Given the description of an element on the screen output the (x, y) to click on. 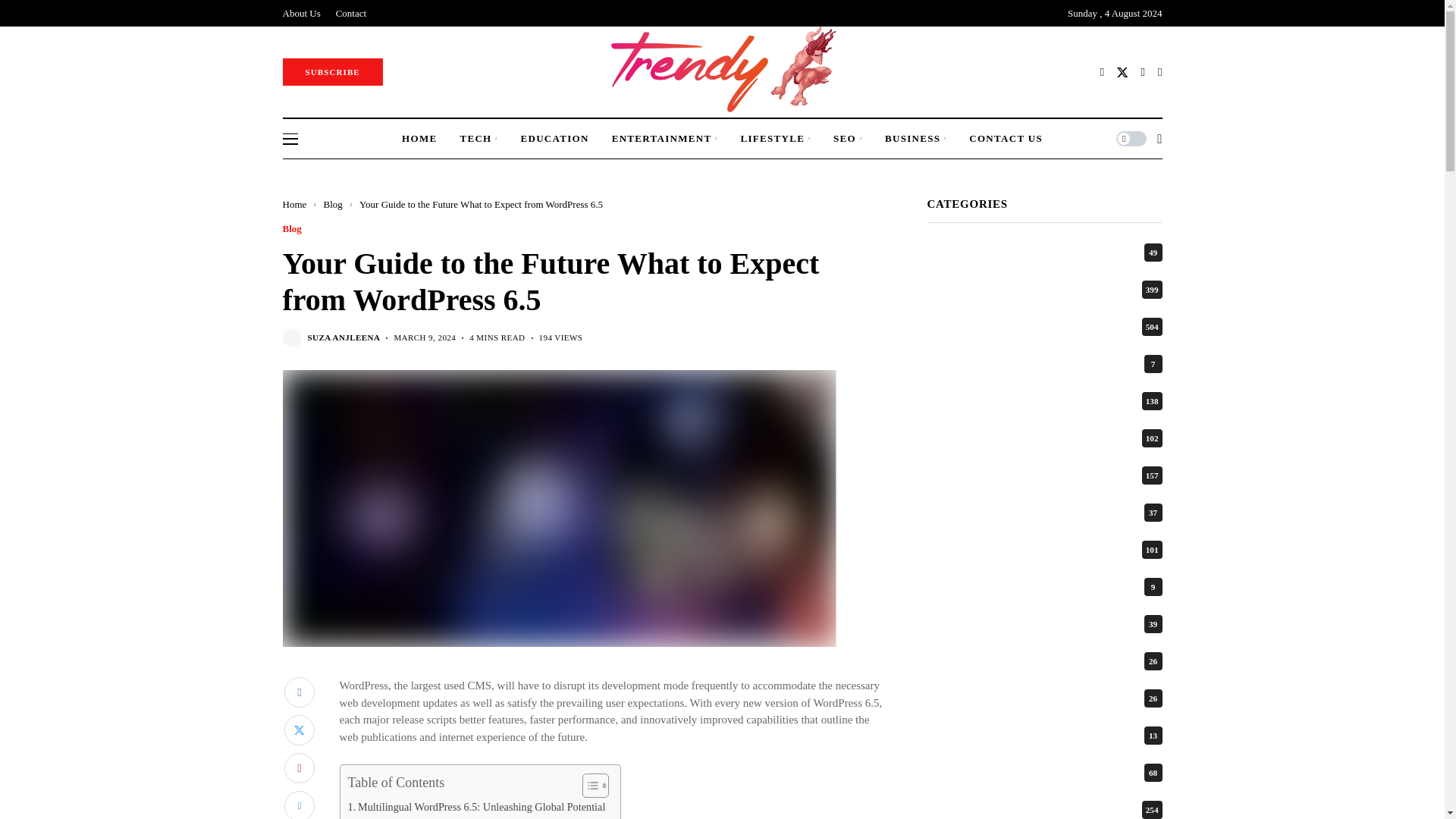
BUSINESS (915, 138)
Multilingual WordPress 6.5: Unleashing Global Potential (476, 806)
CONTACT US (1005, 138)
LIFESTYLE (774, 138)
ENTERTAINMENT (664, 138)
API Advancements: Unlocking New Possibilities (458, 817)
Posts by Suza Anjleena (343, 337)
EDUCATION (553, 138)
About Us (301, 13)
TECH (478, 138)
SUBSCRIBE (331, 71)
Contact (351, 13)
